Given the description of an element on the screen output the (x, y) to click on. 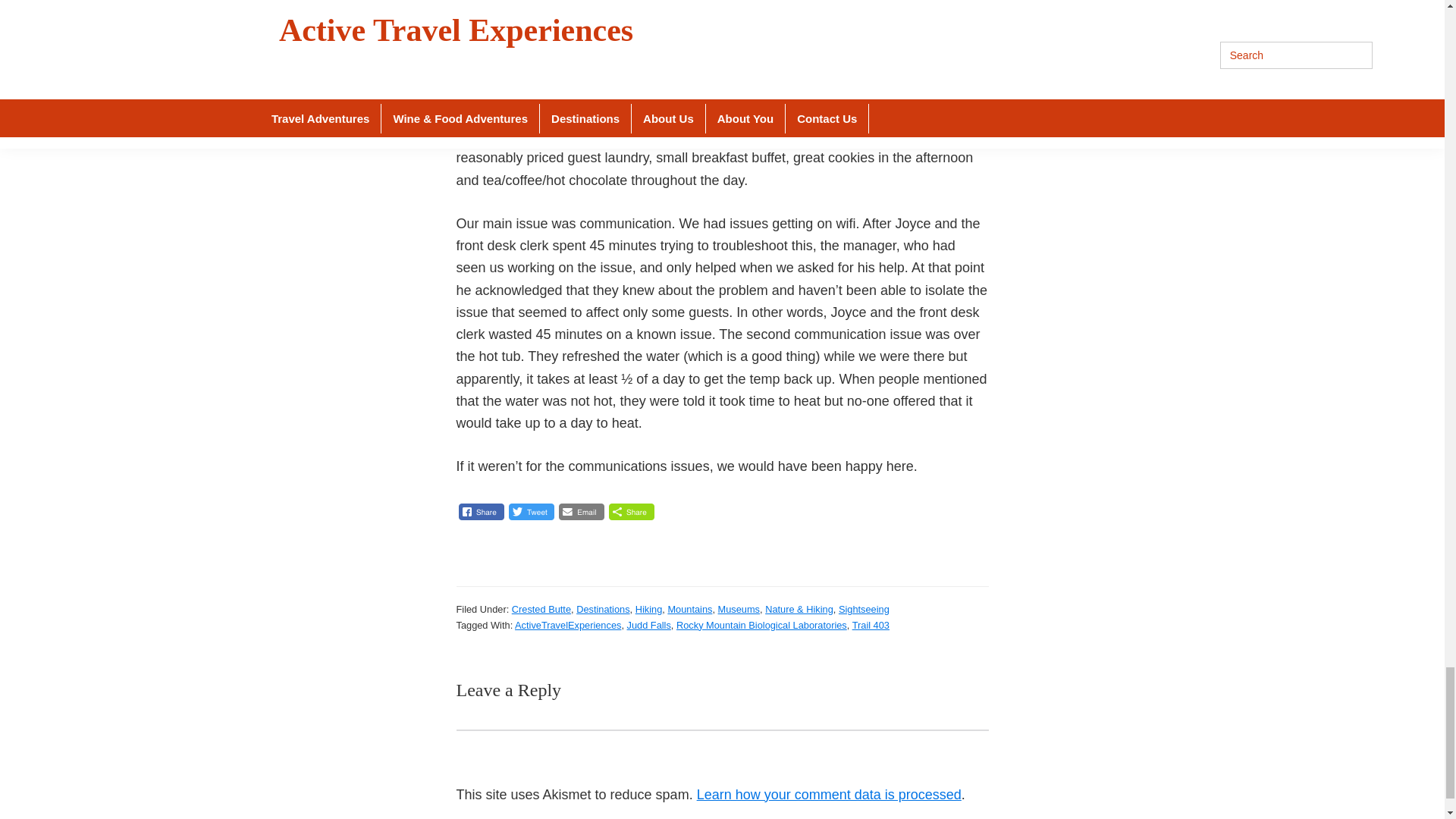
Destinations (602, 609)
Judd Falls (649, 624)
Hiking (648, 609)
Old Town Inn (922, 46)
Crested Butte (541, 609)
Trail 403 (870, 624)
Museums (738, 609)
Rocky Mountain Biological Laboratories (762, 624)
ActiveTravelExperiences (568, 624)
Mountains (688, 609)
Sightseeing (863, 609)
